Given the description of an element on the screen output the (x, y) to click on. 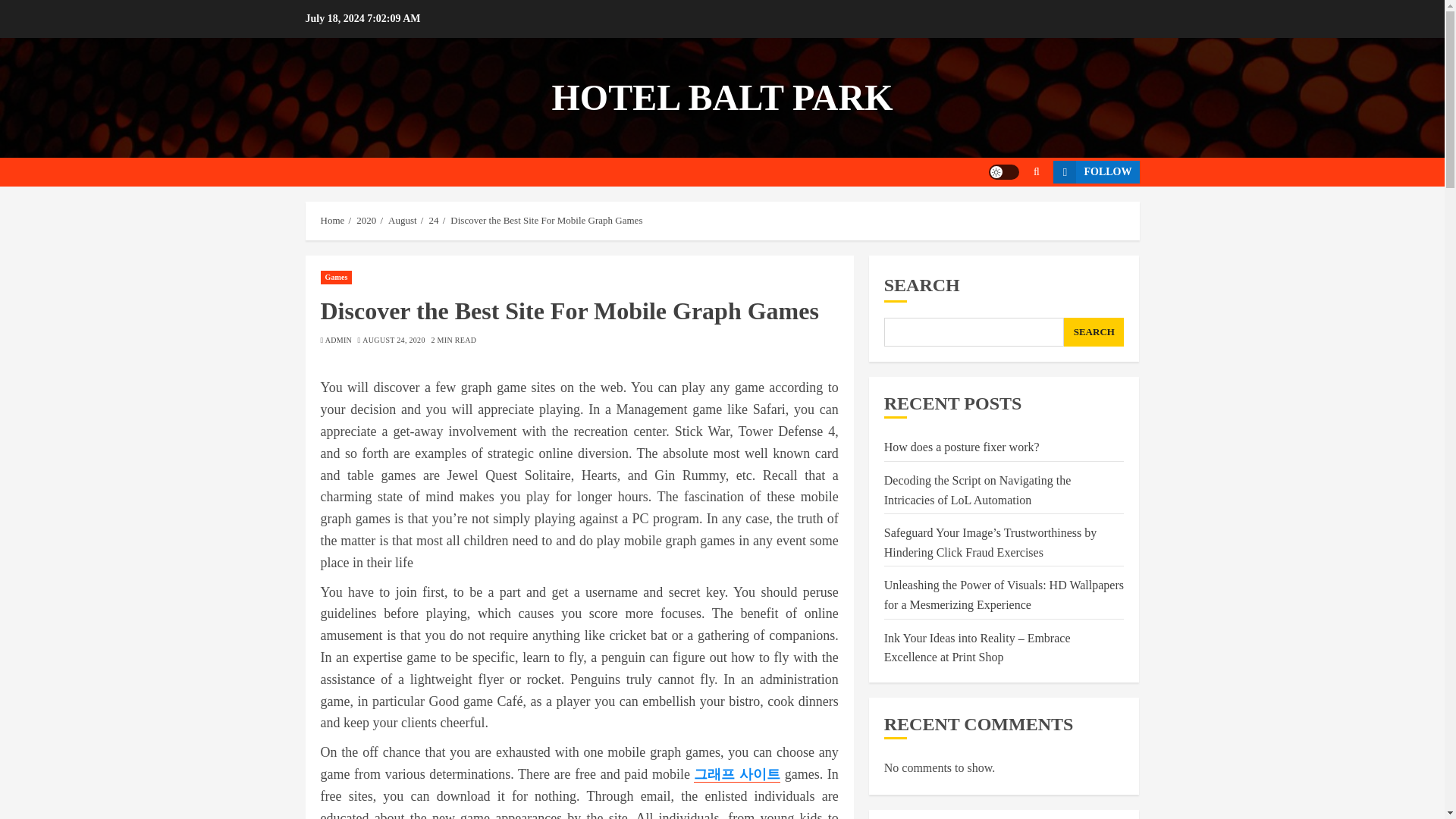
SEARCH (1094, 331)
August (402, 220)
Discover the Best Site For Mobile Graph Games (545, 220)
2020 (365, 220)
Search (1035, 172)
AUGUST 24, 2020 (393, 339)
ADMIN (338, 339)
Home (331, 220)
How does a posture fixer work? (961, 447)
24 (433, 220)
Games (336, 277)
HOTEL BALT PARK (722, 96)
FOLLOW (1095, 171)
